Given the description of an element on the screen output the (x, y) to click on. 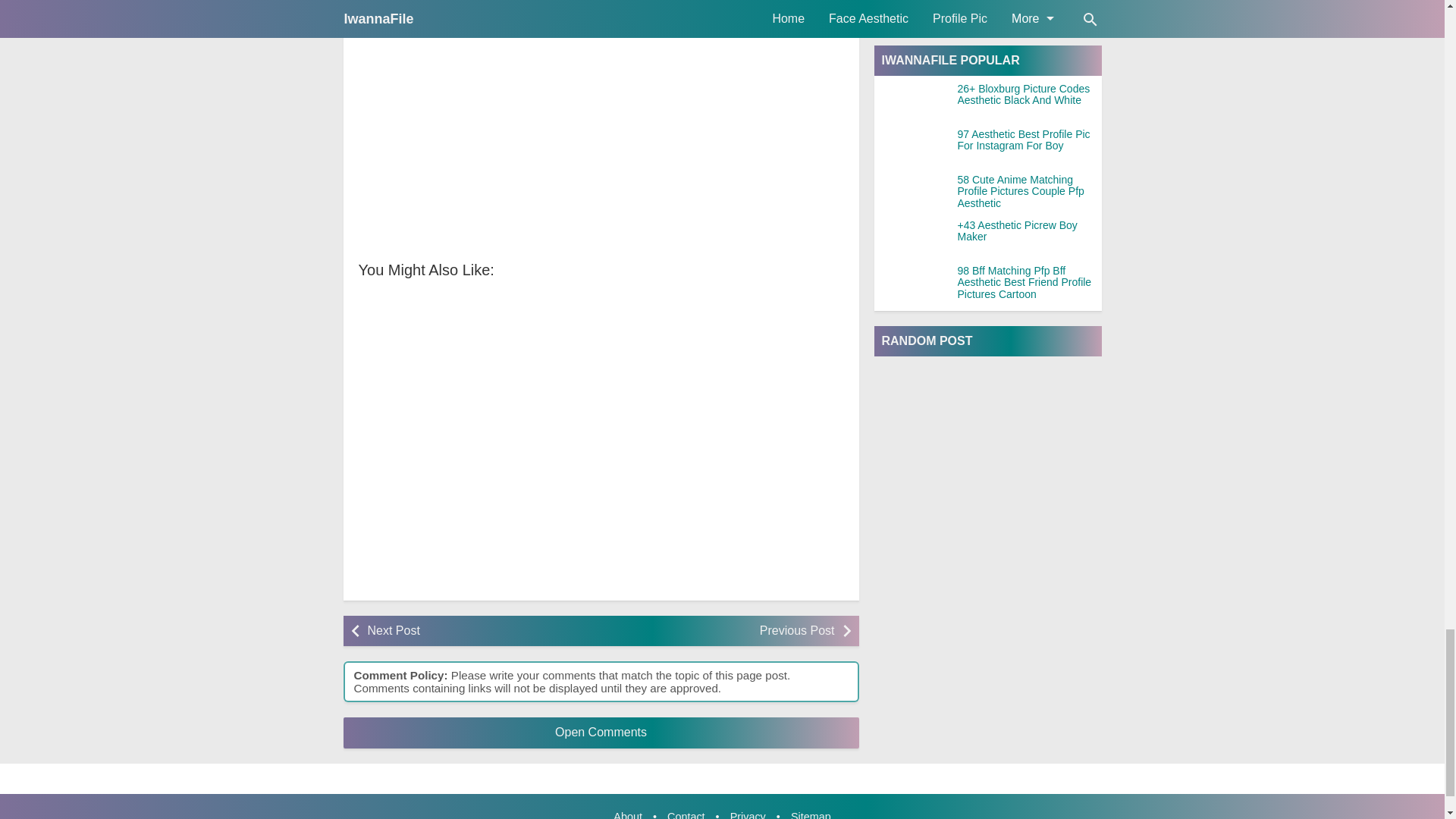
Next Post (479, 631)
Older Post (721, 631)
Newer Post (479, 631)
Previous Post (721, 631)
